Given the description of an element on the screen output the (x, y) to click on. 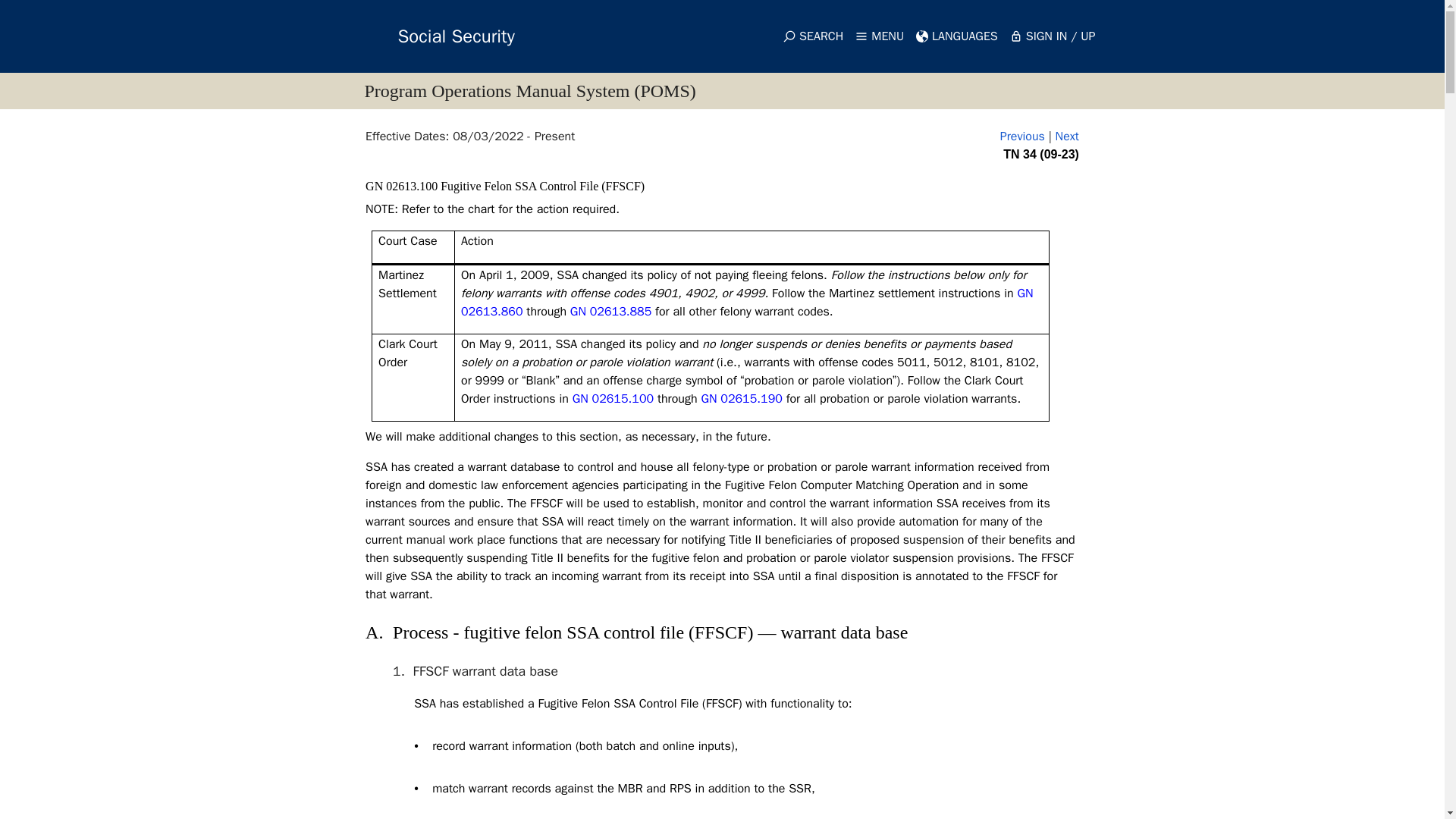
Social Security (427, 36)
LANGUAGES (957, 36)
SEARCH (812, 36)
GN 02613.885 (610, 311)
GN 02613.100 (403, 185)
Previous Document (1022, 136)
Next Document (1066, 136)
Previous (1022, 136)
GN 02613.860 (747, 302)
GN 02615.100 (612, 398)
Next (1066, 136)
Languages (957, 36)
GN 02615.190 (740, 398)
